Given the description of an element on the screen output the (x, y) to click on. 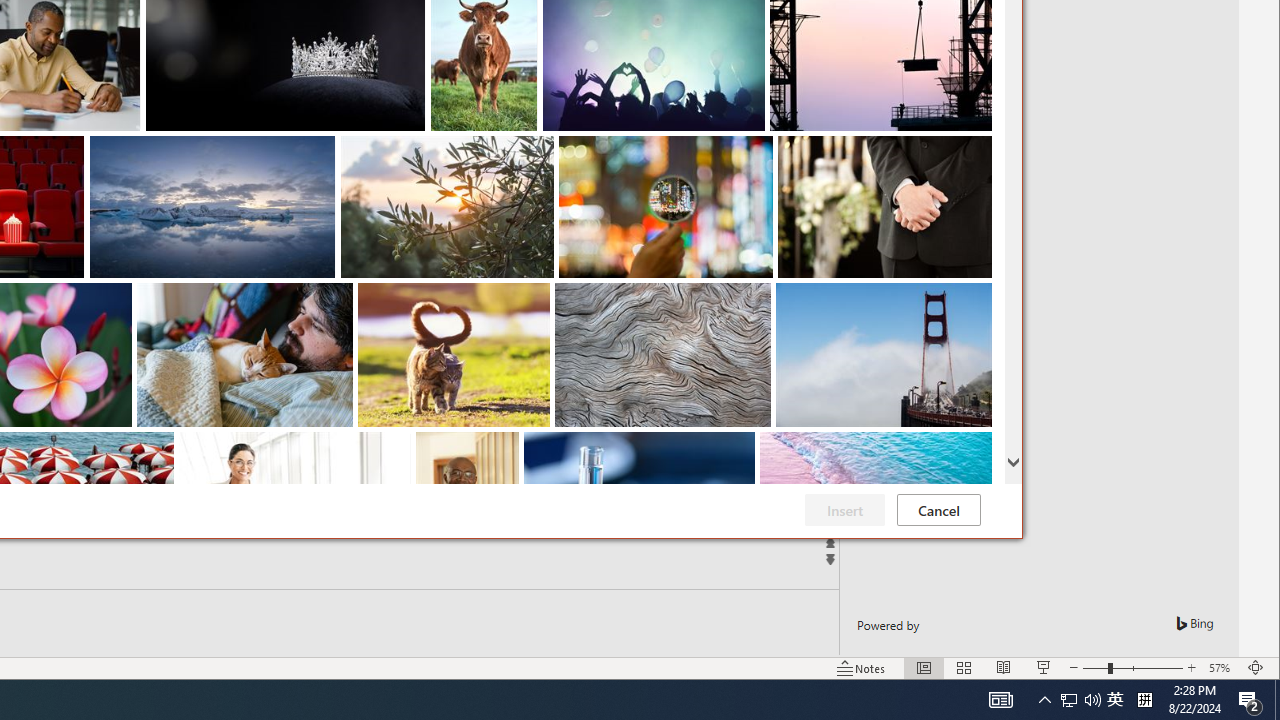
Zoom 57% (1222, 668)
